Given the description of an element on the screen output the (x, y) to click on. 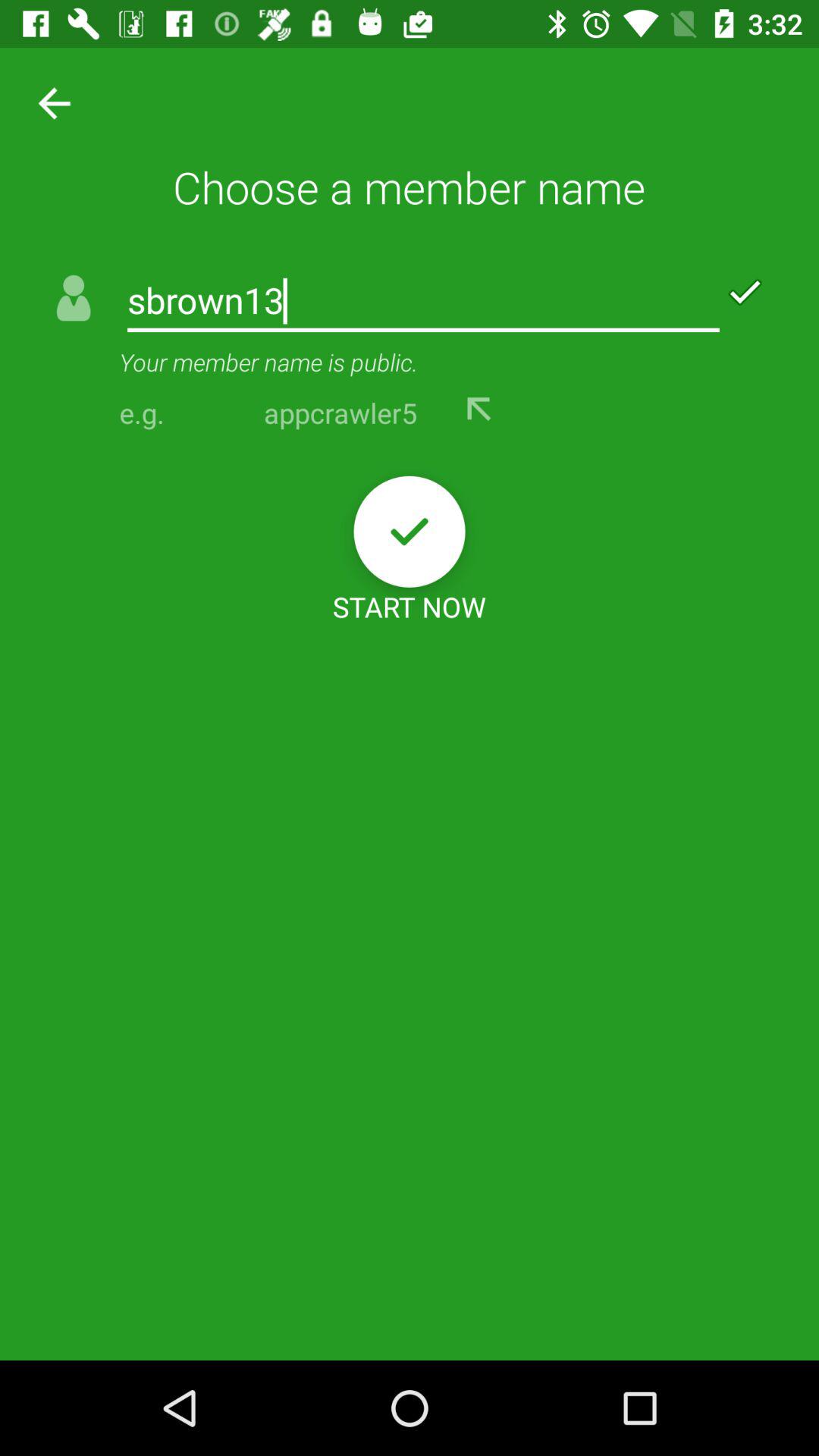
click start now check mark button (409, 531)
